Given the description of an element on the screen output the (x, y) to click on. 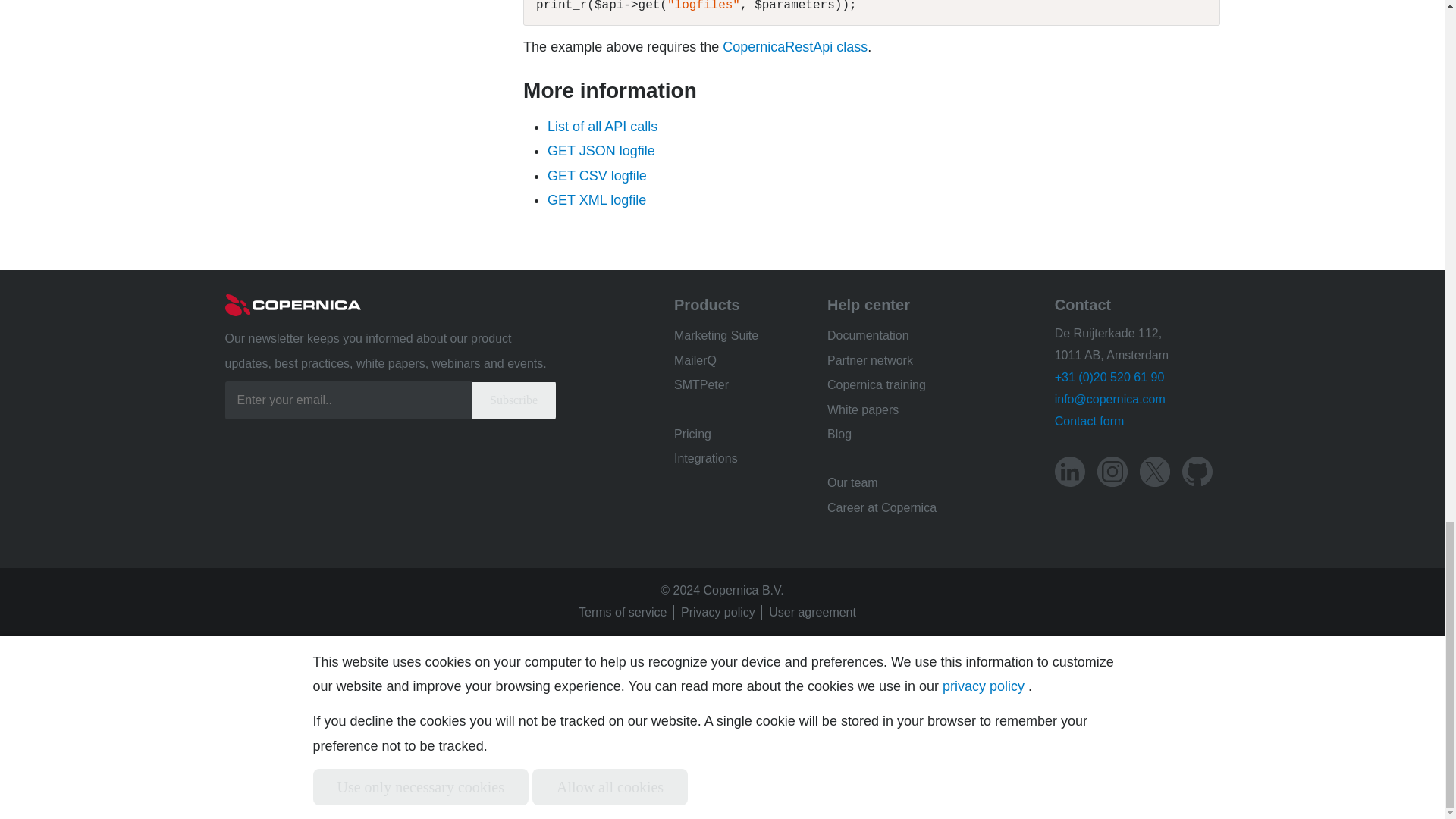
Our partner network (869, 359)
List of integrations (706, 458)
About SMTPeter (701, 384)
Copernica training (876, 384)
Pricing (692, 433)
View support options (868, 304)
Documentation (867, 335)
About Copernica Marketing Software (716, 335)
Products (706, 304)
About MailerQ (695, 359)
Our white papers (862, 409)
